Given the description of an element on the screen output the (x, y) to click on. 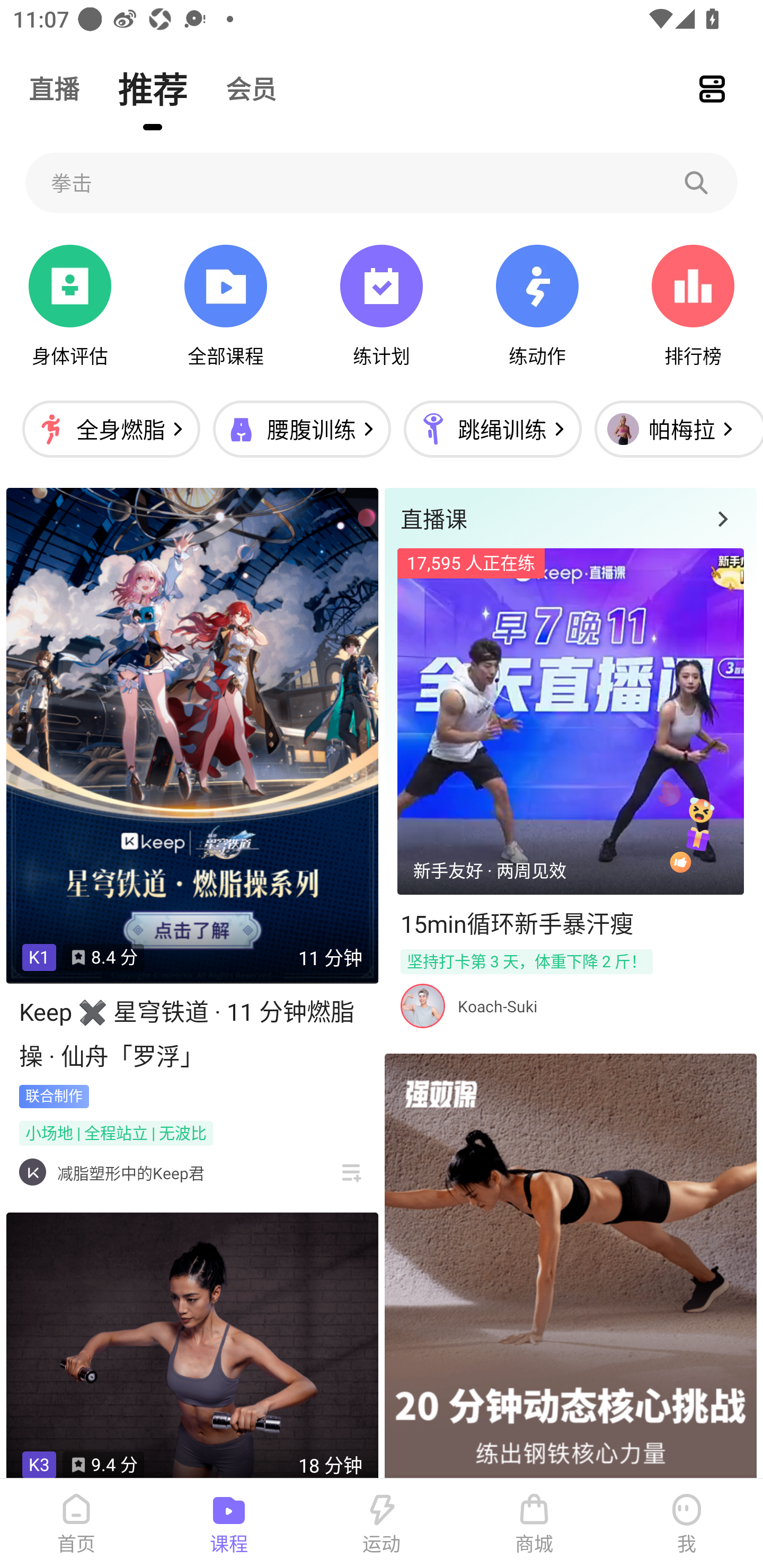
直播 (53, 88)
推荐 (152, 88)
会员 (251, 88)
拳击 (381, 182)
身体评估 (69, 306)
全部课程 (225, 306)
练计划 (381, 306)
练动作 (537, 306)
排行榜 (692, 306)
全身燃脂 更多 (110, 428)
腰腹训练 更多 (301, 428)
跳绳训练 更多 (492, 428)
帕梅拉 更多 (673, 428)
直播课 (570, 517)
Koach-Suki (497, 1006)
减脂塑形中的Keep君 (130, 1172)
K3 9.4 分 18 分钟 (192, 1345)
首页 (76, 1523)
课程 (228, 1523)
运动 (381, 1523)
商城 (533, 1523)
我 (686, 1523)
